Given the description of an element on the screen output the (x, y) to click on. 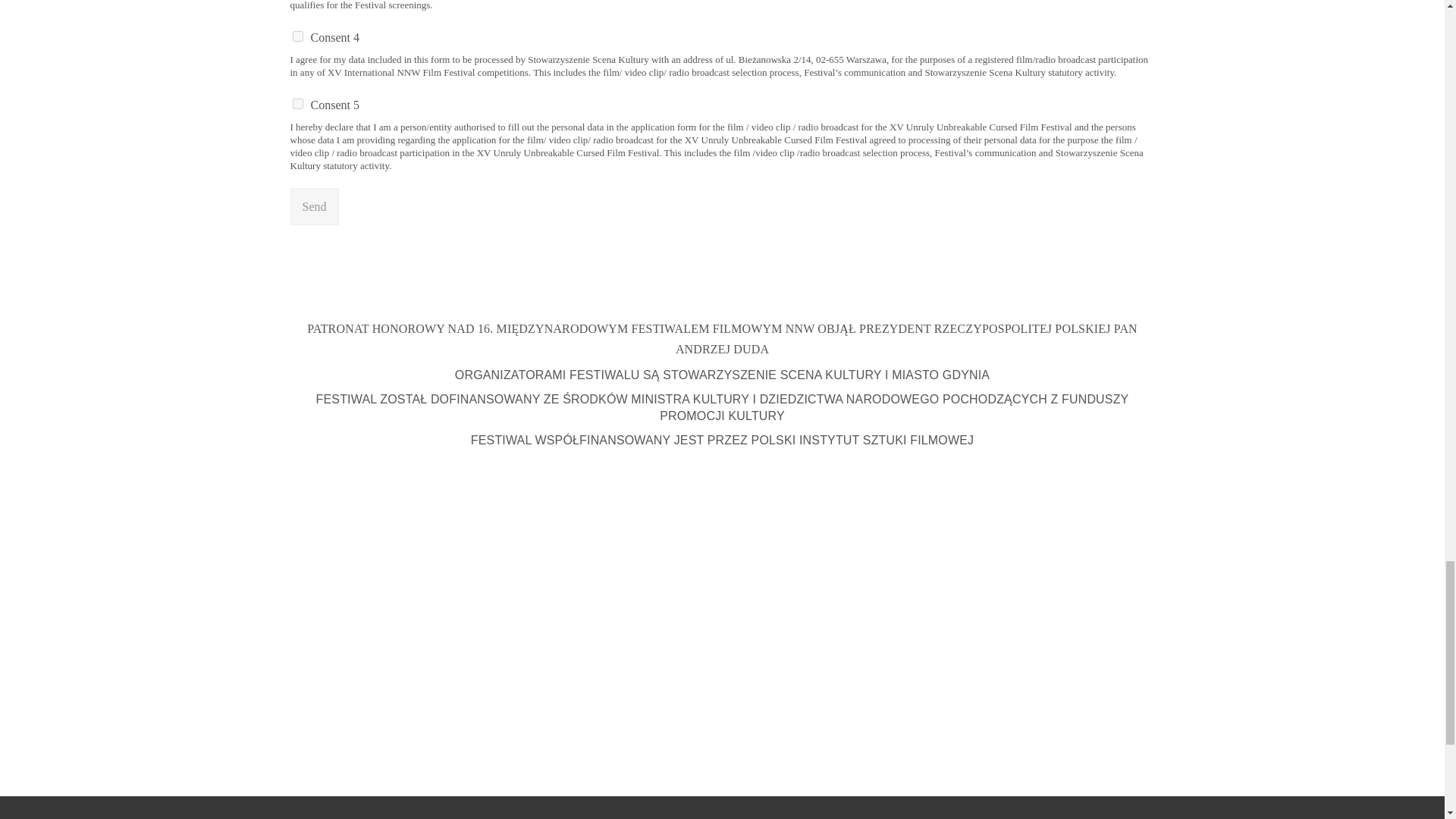
Send (313, 206)
